Given the description of an element on the screen output the (x, y) to click on. 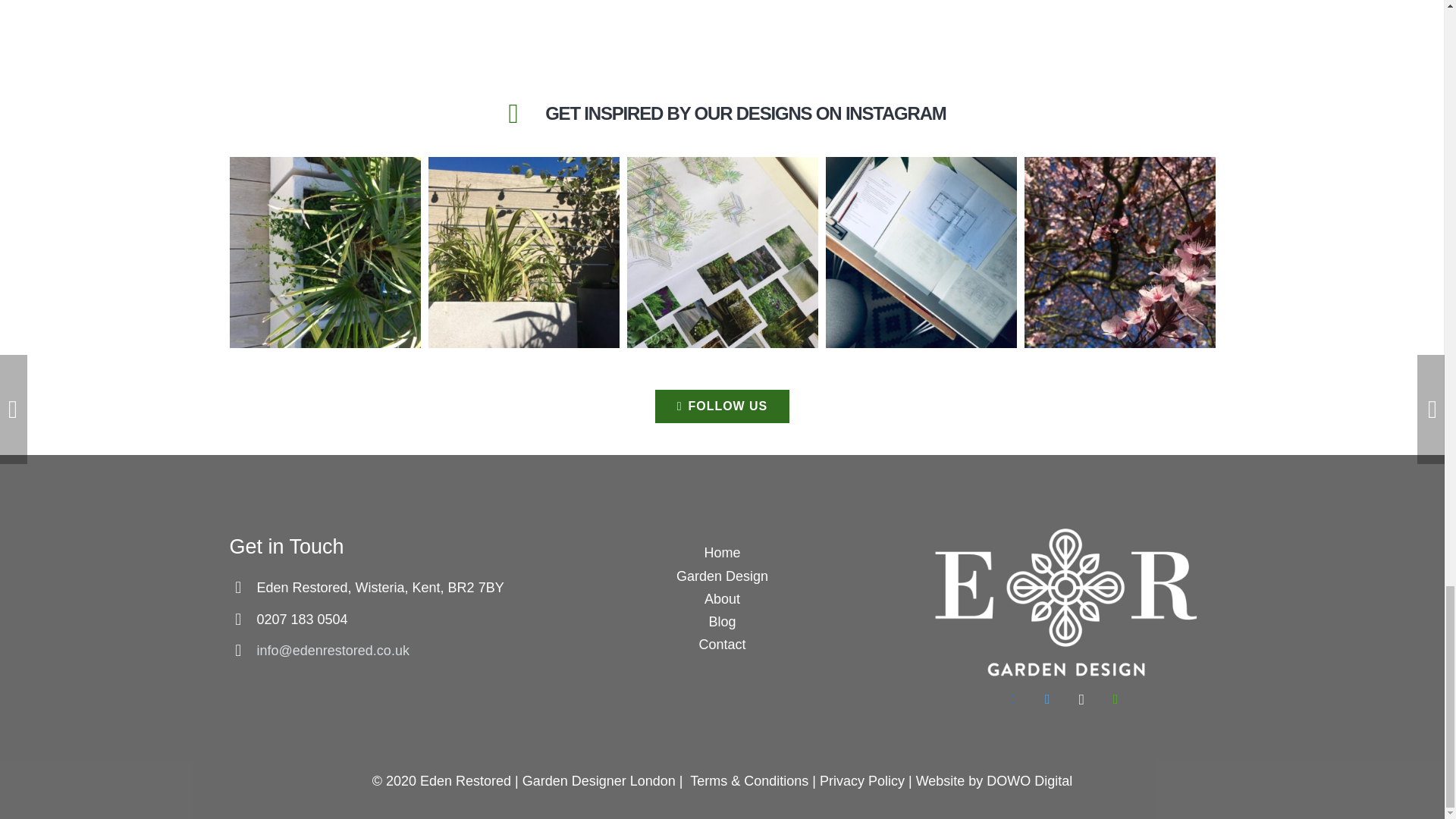
Instagram (1081, 699)
Garden Design (722, 575)
Home (721, 552)
About (721, 598)
Blog (721, 621)
Facebook (1012, 699)
FOLLOW US (722, 406)
Houzz (1115, 699)
Website Designed by DOWO Digital (1029, 780)
Twitter (1047, 699)
